Given the description of an element on the screen output the (x, y) to click on. 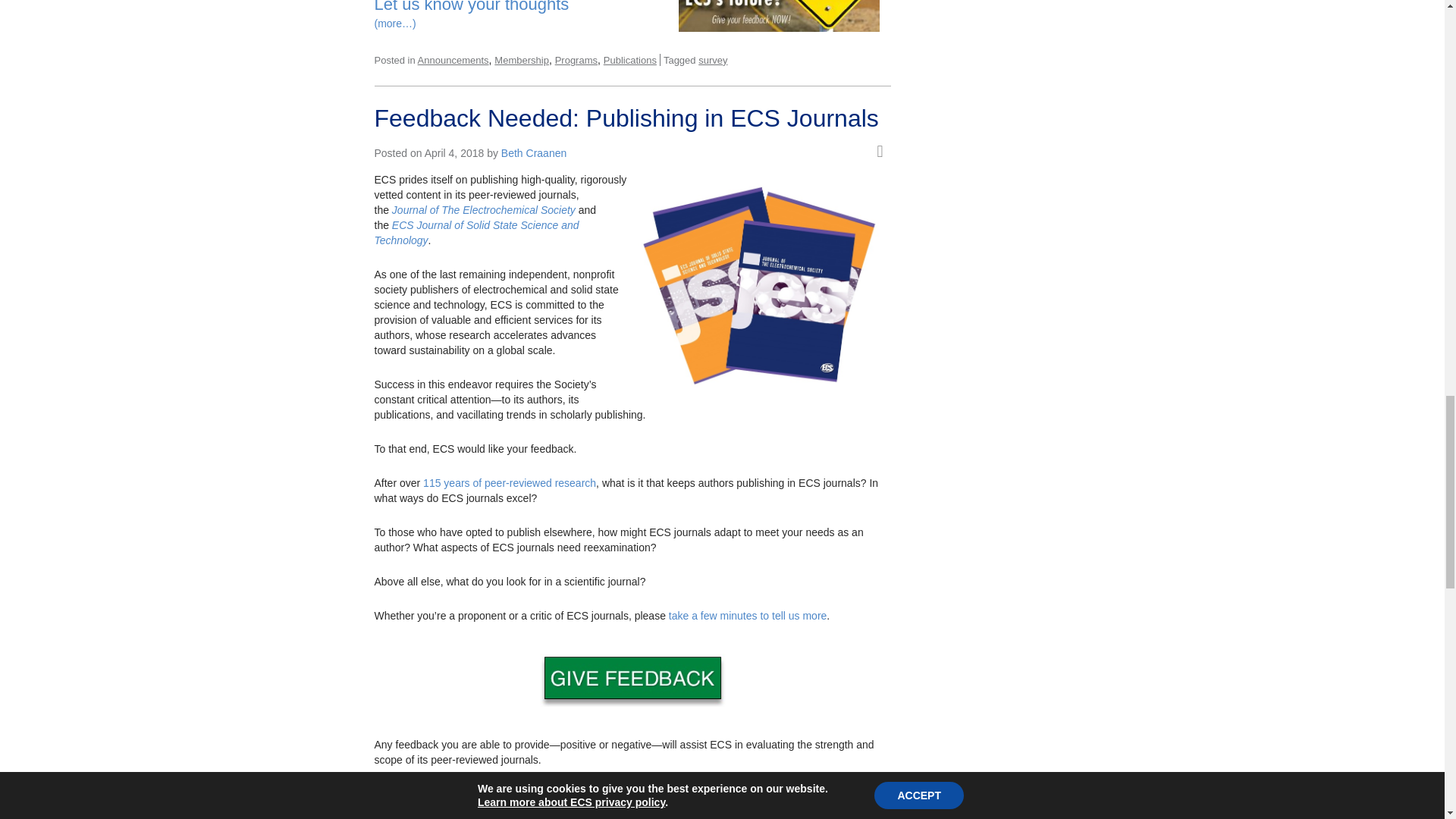
By Beth Craanen (533, 152)
